Given the description of an element on the screen output the (x, y) to click on. 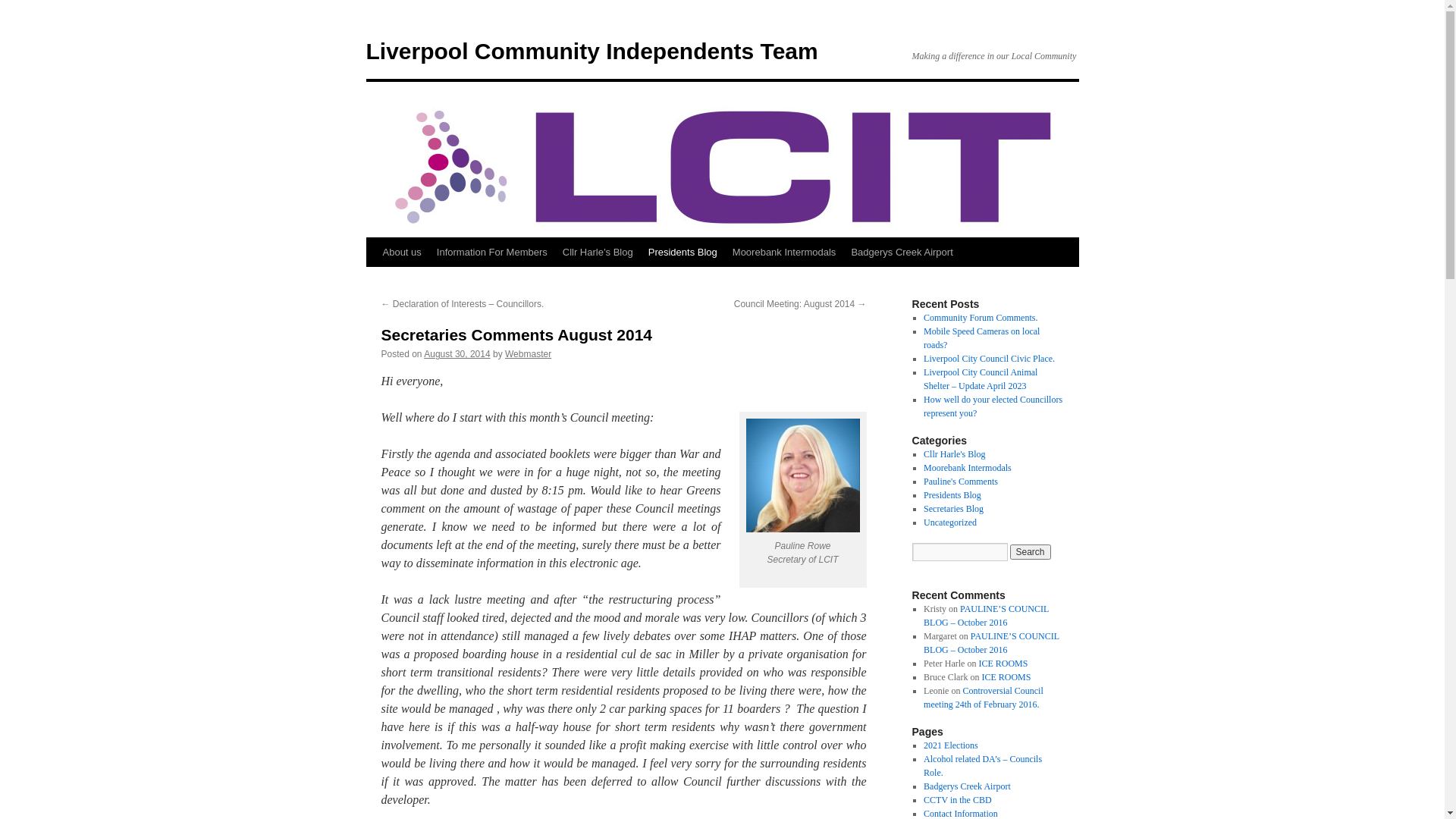
How well do your elected Councillors represent you? Element type: text (992, 406)
About us Element type: text (401, 252)
Badgerys Creek Airport Element type: text (901, 252)
Mobile Speed Cameras on local roads? Element type: text (981, 338)
Presidents Blog Element type: text (952, 494)
Skip to content Element type: text (372, 280)
2021 Elections Element type: text (950, 745)
Liverpool Community Independents Team Element type: text (591, 50)
Uncategorized Element type: text (949, 522)
Information For Members Element type: text (492, 252)
CCTV in the CBD Element type: text (957, 799)
Cllr Harle's Blog Element type: text (954, 453)
Liverpool City Council Civic Place. Element type: text (988, 358)
Moorebank Intermodals Element type: text (967, 467)
Controversial Council meeting 24th of February 2016. Element type: text (983, 697)
Moorebank Intermodals Element type: text (784, 252)
Pauline's Comments Element type: text (960, 481)
Search Element type: text (1030, 551)
August 30, 2014 Element type: text (456, 353)
Community Forum Comments. Element type: text (980, 317)
Badgerys Creek Airport Element type: text (966, 786)
Secretaries Blog Element type: text (953, 508)
Presidents Blog Element type: text (682, 252)
ICE ROOMS Element type: text (1005, 676)
ICE ROOMS Element type: text (1002, 663)
Webmaster Element type: text (528, 353)
